Given the description of an element on the screen output the (x, y) to click on. 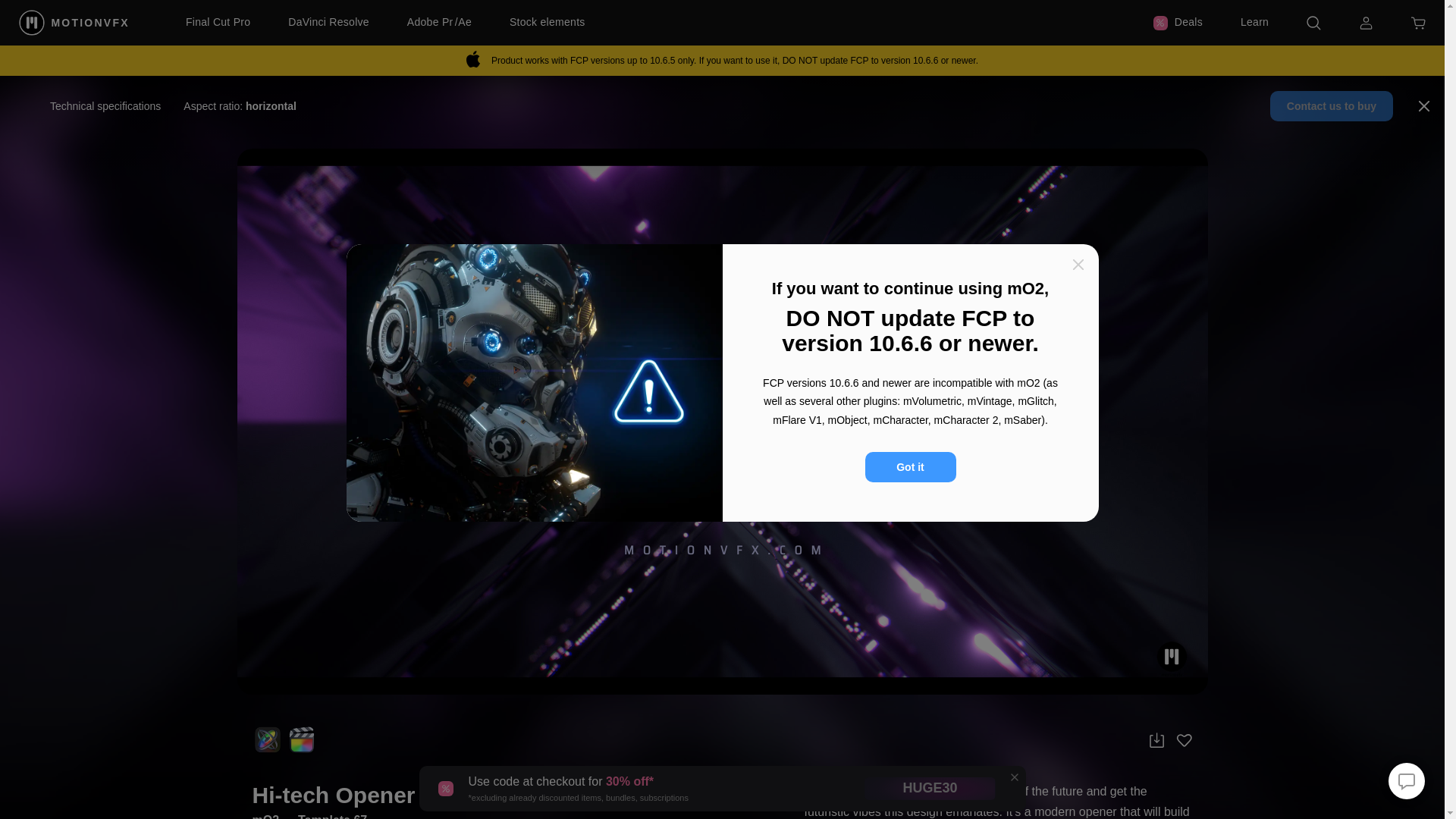
Final Cut Pro (218, 22)
MOTIONVFX (75, 22)
Deals (1177, 22)
DaVinci Resolve (328, 22)
Stock elements (547, 22)
